Given the description of an element on the screen output the (x, y) to click on. 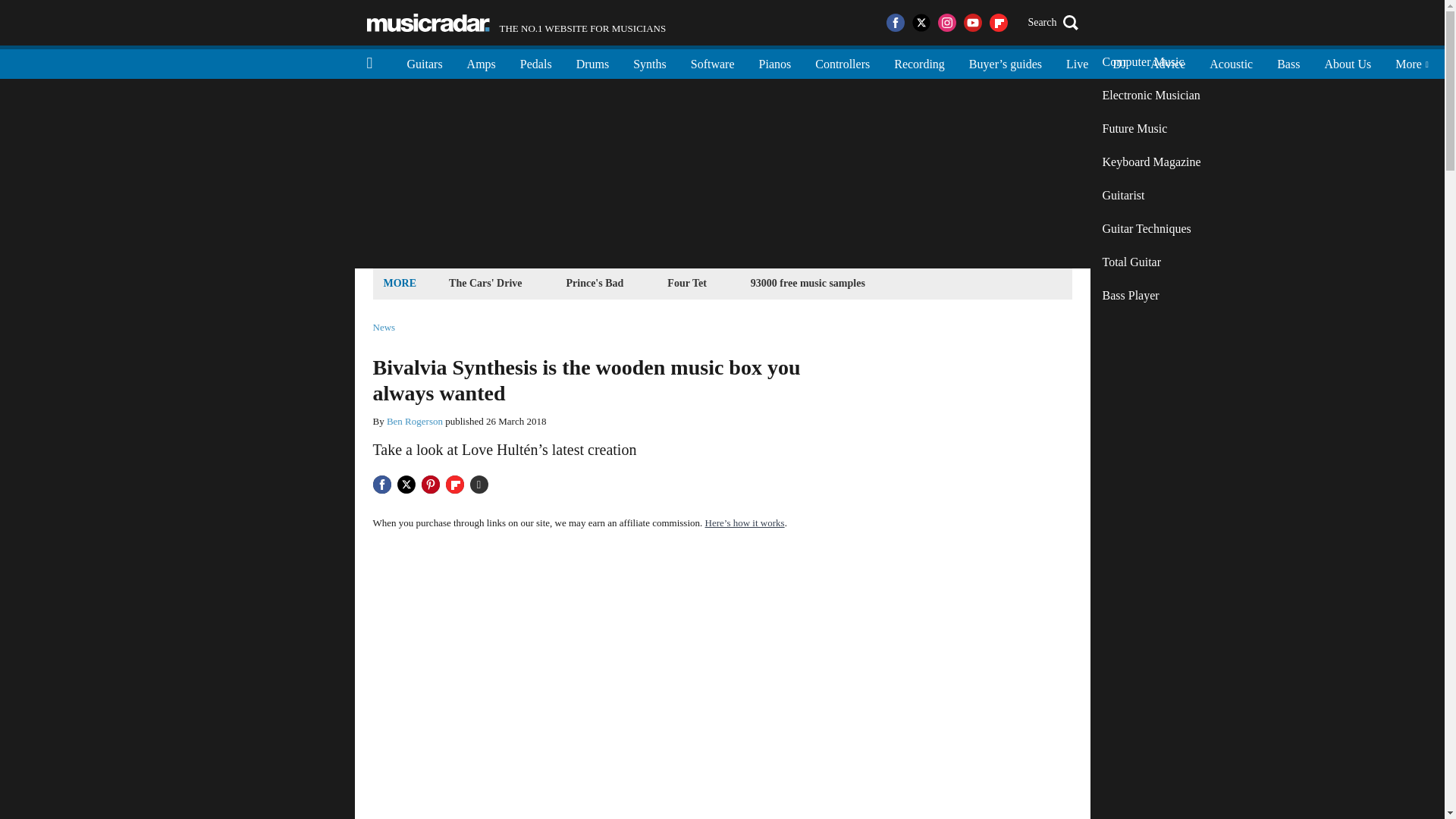
Bass Player (1151, 295)
Recording (516, 22)
Keyboard Magazine (919, 61)
Controllers (1151, 162)
Software (842, 61)
93000 free music samples (712, 61)
Advice (807, 282)
Pianos (1167, 61)
Synths (774, 61)
